Given the description of an element on the screen output the (x, y) to click on. 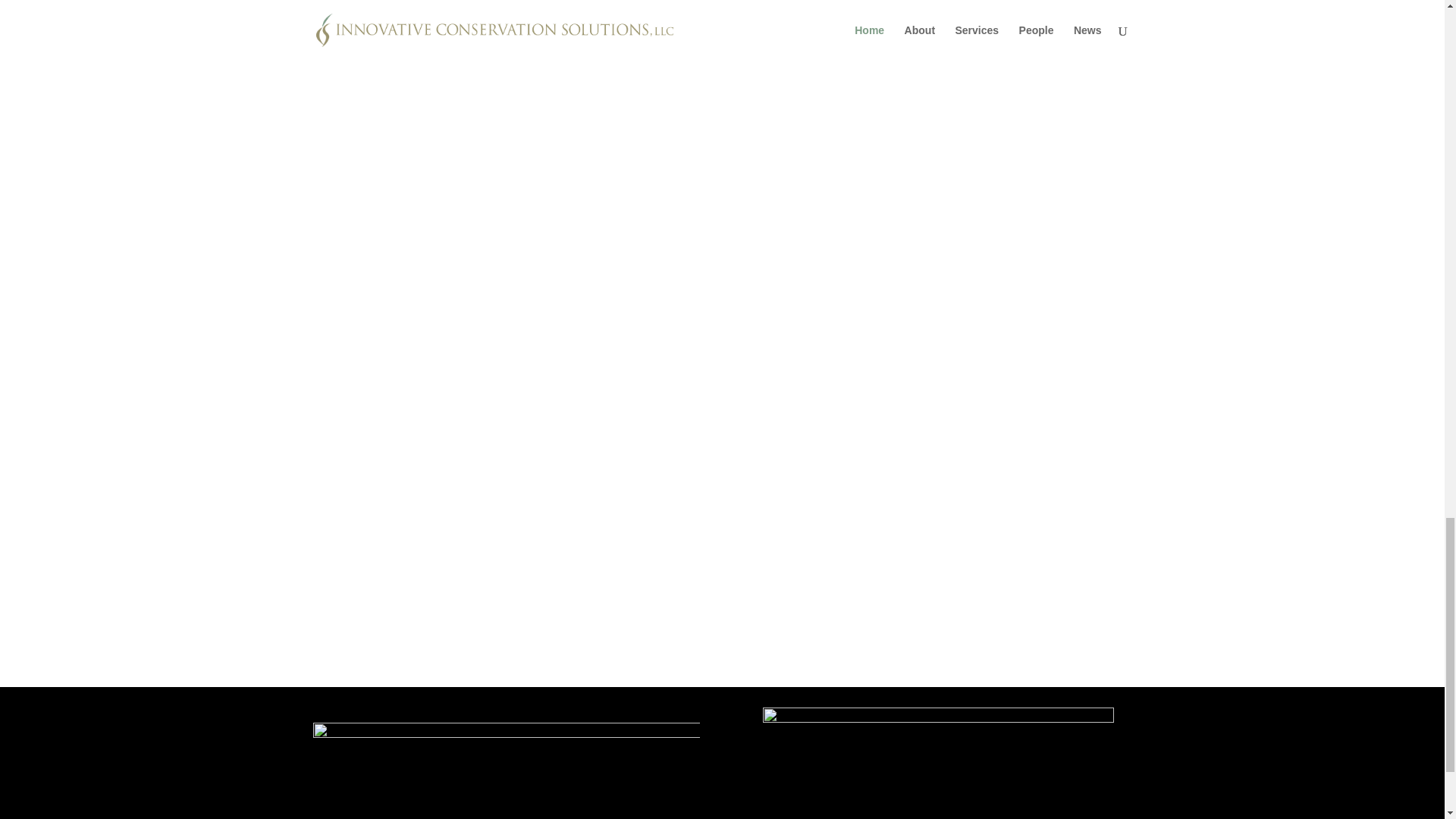
ICSLOGOlarge (505, 770)
